Given the description of an element on the screen output the (x, y) to click on. 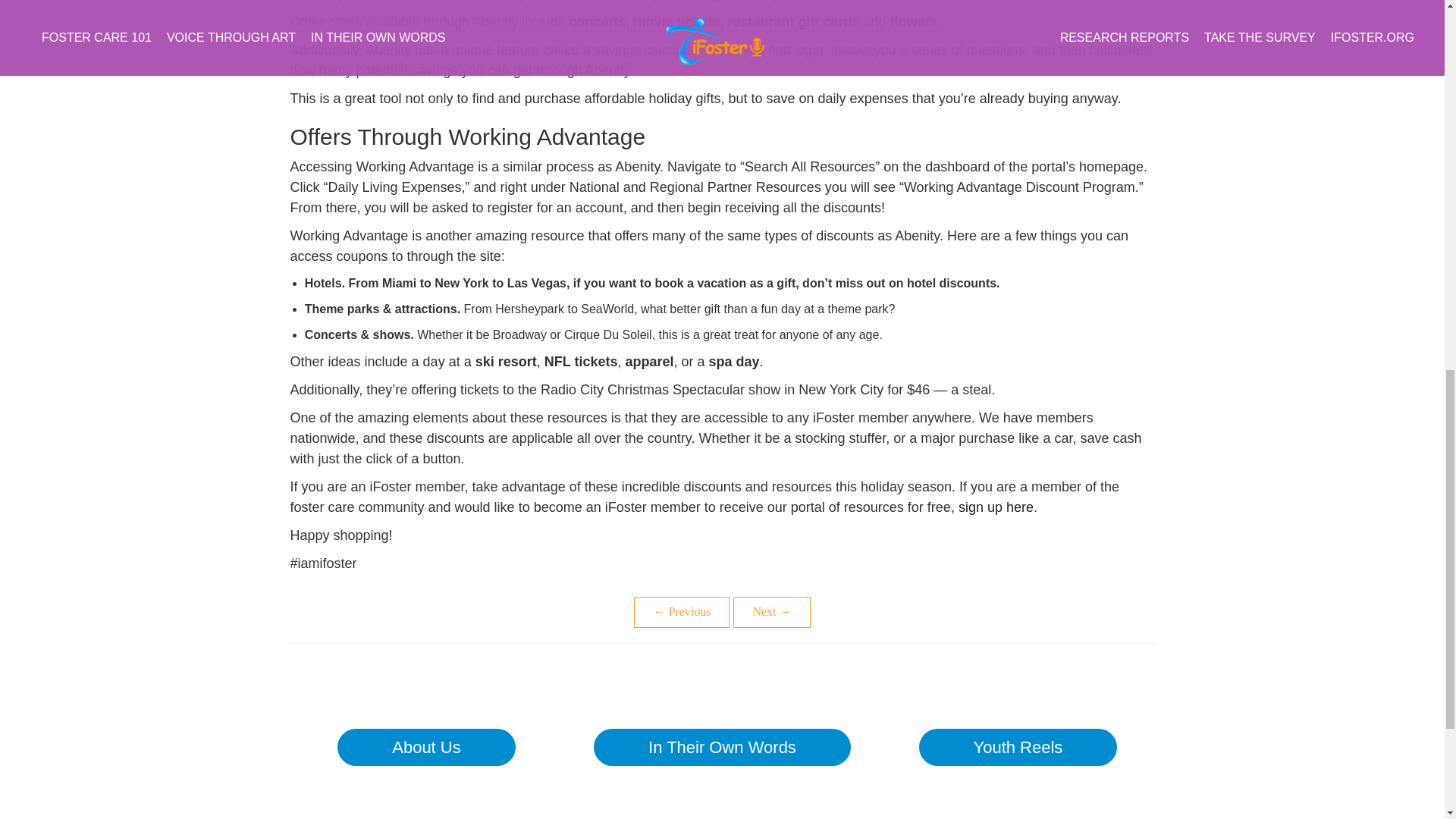
Youth Reels (1018, 746)
In Their Own Words (722, 746)
About Us (426, 746)
sign up here (995, 507)
